Given the description of an element on the screen output the (x, y) to click on. 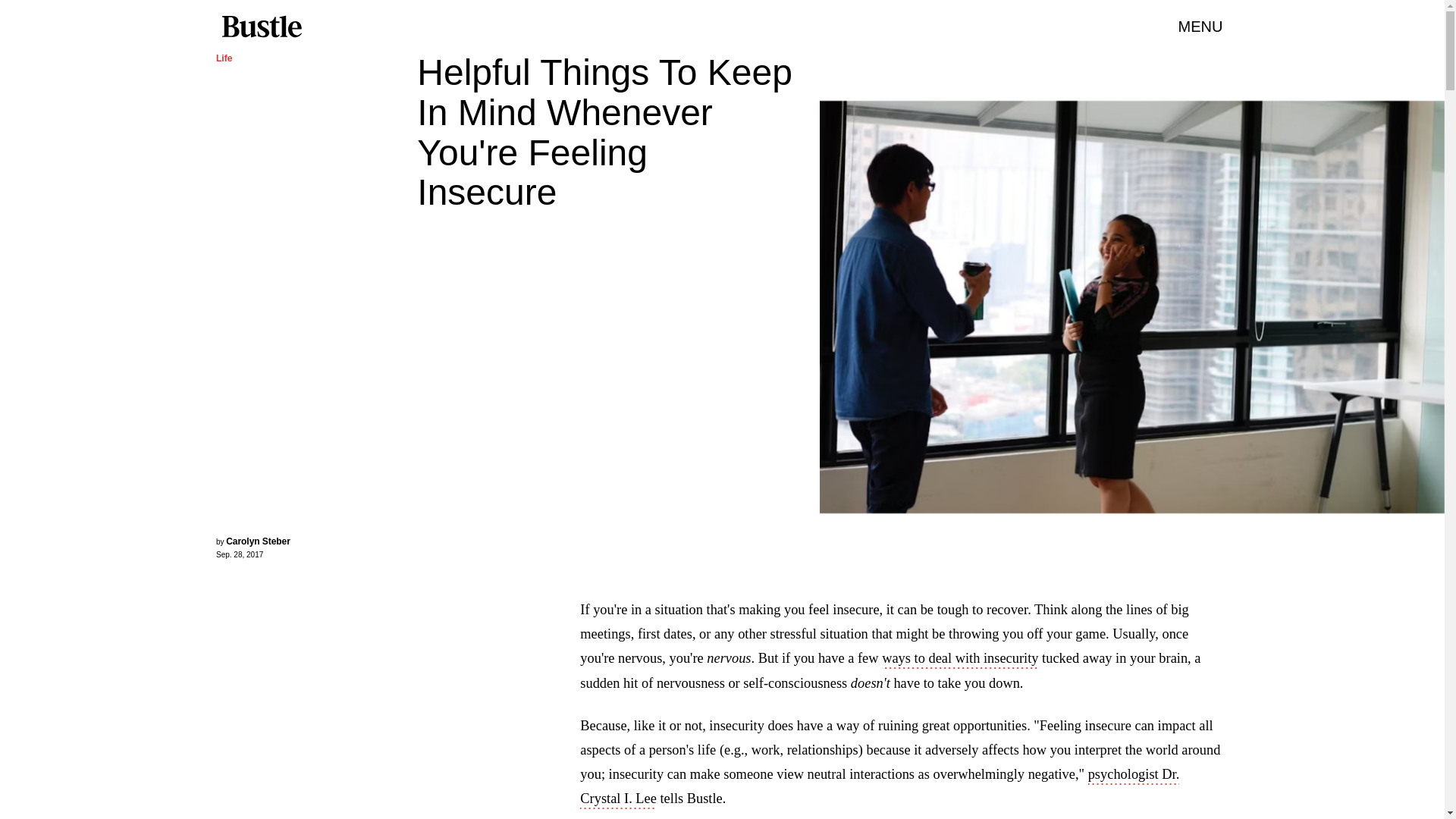
ways to deal with insecurity (960, 659)
Bustle (261, 26)
Carolyn Steber (257, 541)
psychologist Dr. Crystal I. Lee (879, 787)
